Given the description of an element on the screen output the (x, y) to click on. 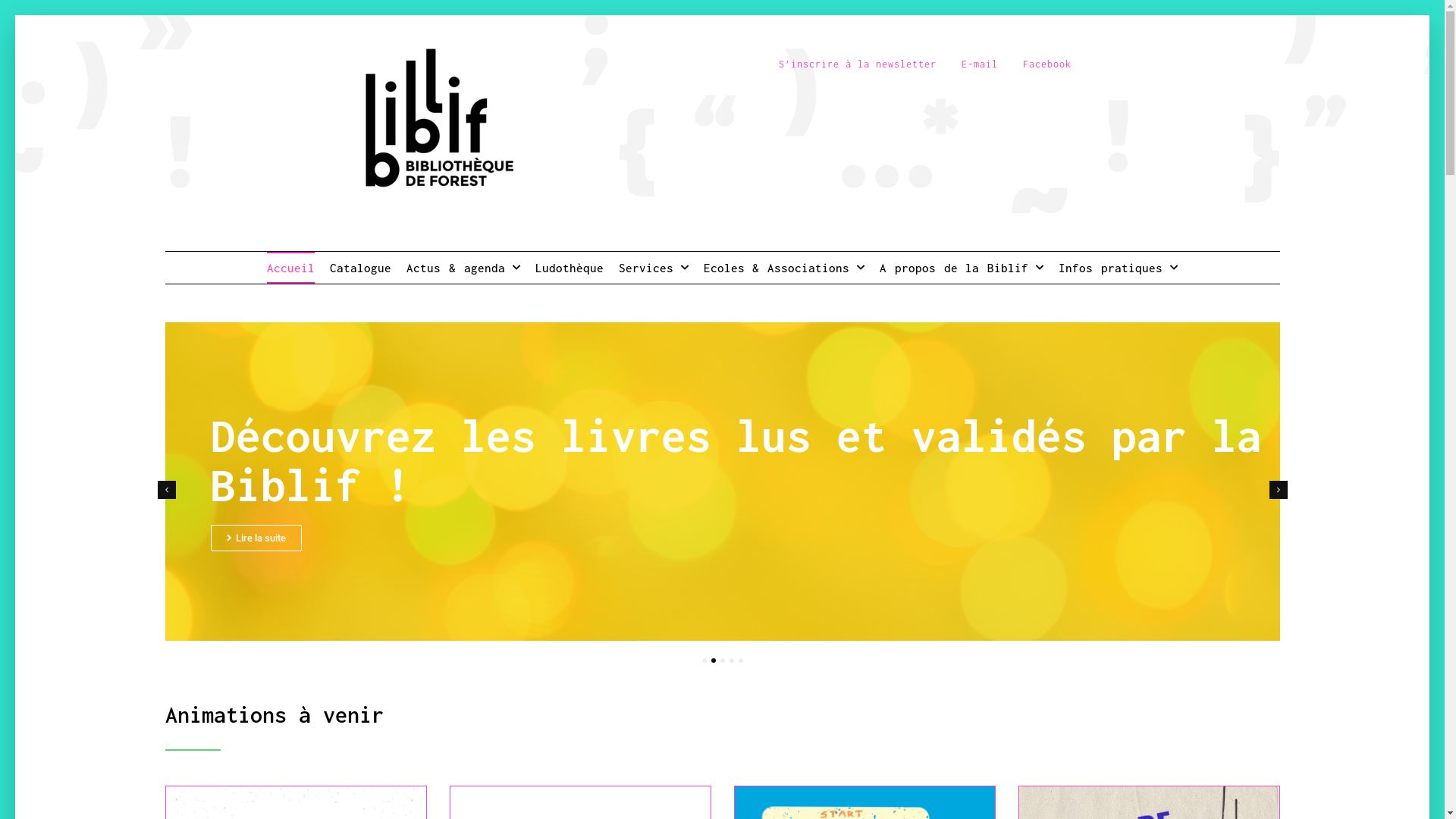
Facebook Element type: text (1046, 64)
Accueil Element type: text (290, 267)
Services Element type: text (653, 267)
Lire la suite Element type: text (255, 533)
Actus & agenda Element type: text (462, 267)
Catalogue Element type: text (360, 267)
Ecoles & Associations Element type: text (783, 267)
A propos de la Biblif Element type: text (961, 267)
Infos pratiques Element type: text (1117, 267)
E-mail Element type: text (979, 64)
